Given the description of an element on the screen output the (x, y) to click on. 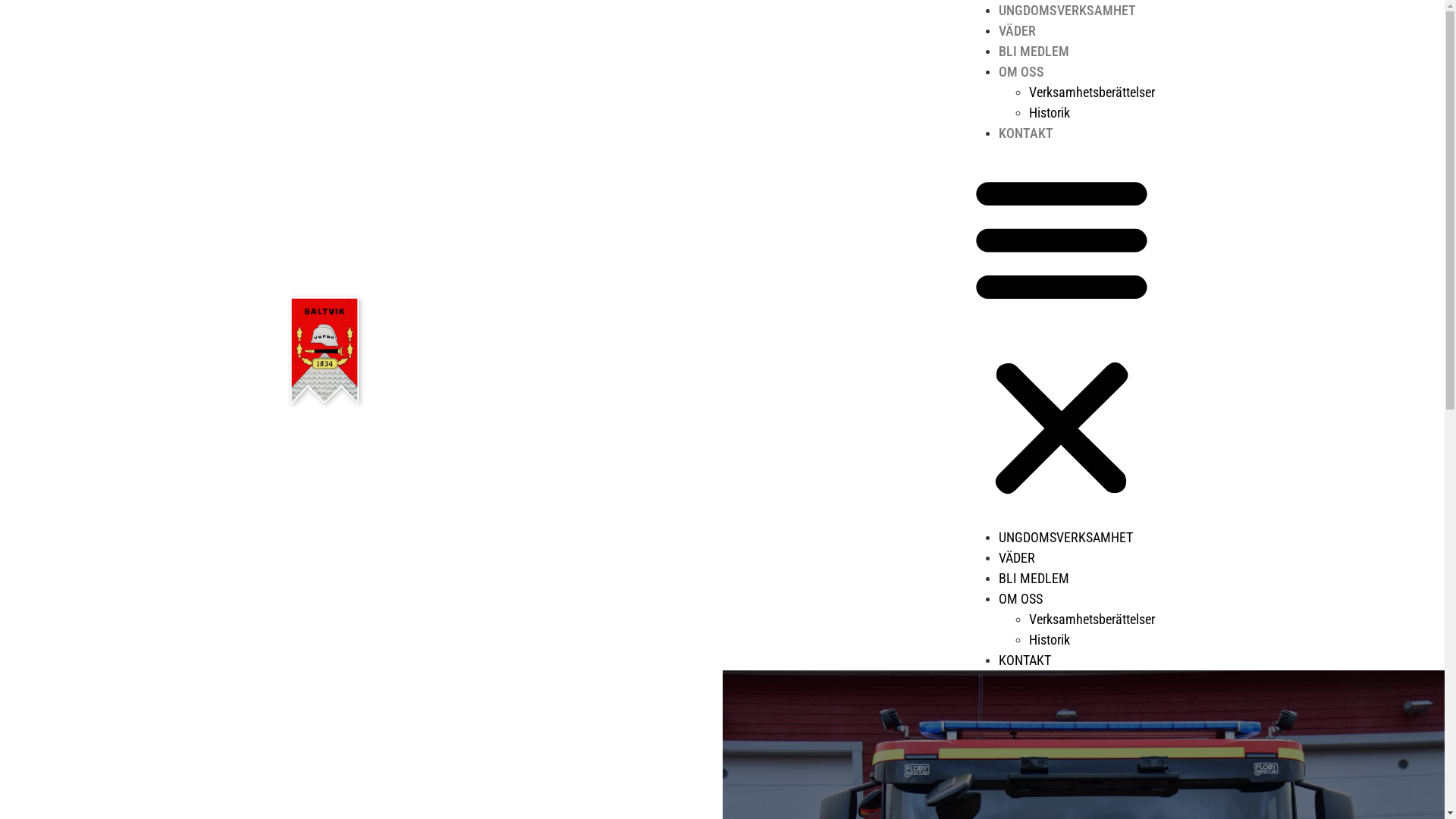
OM OSS Element type: text (1019, 598)
KONTAKT Element type: text (1023, 660)
KONTAKT Element type: text (1024, 133)
OM OSS Element type: text (1020, 71)
Historik Element type: text (1048, 639)
UNGDOMSVERKSAMHET Element type: text (1064, 537)
UNGDOMSVERKSAMHET Element type: text (1066, 10)
Historik Element type: text (1048, 112)
BLI MEDLEM Element type: text (1032, 578)
BLI MEDLEM Element type: text (1032, 51)
